Given the description of an element on the screen output the (x, y) to click on. 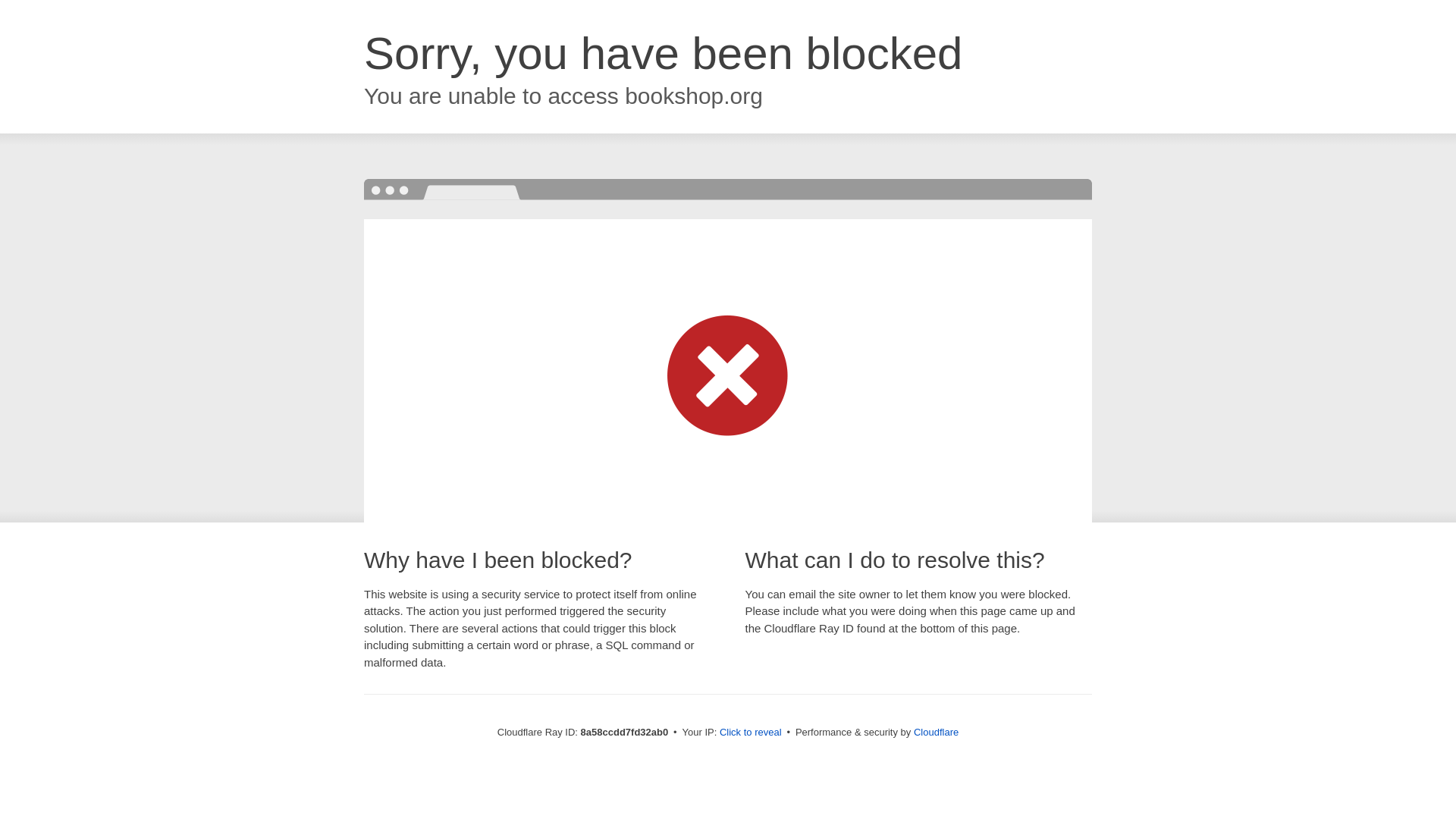
Cloudflare (936, 731)
Click to reveal (750, 732)
